Given the description of an element on the screen output the (x, y) to click on. 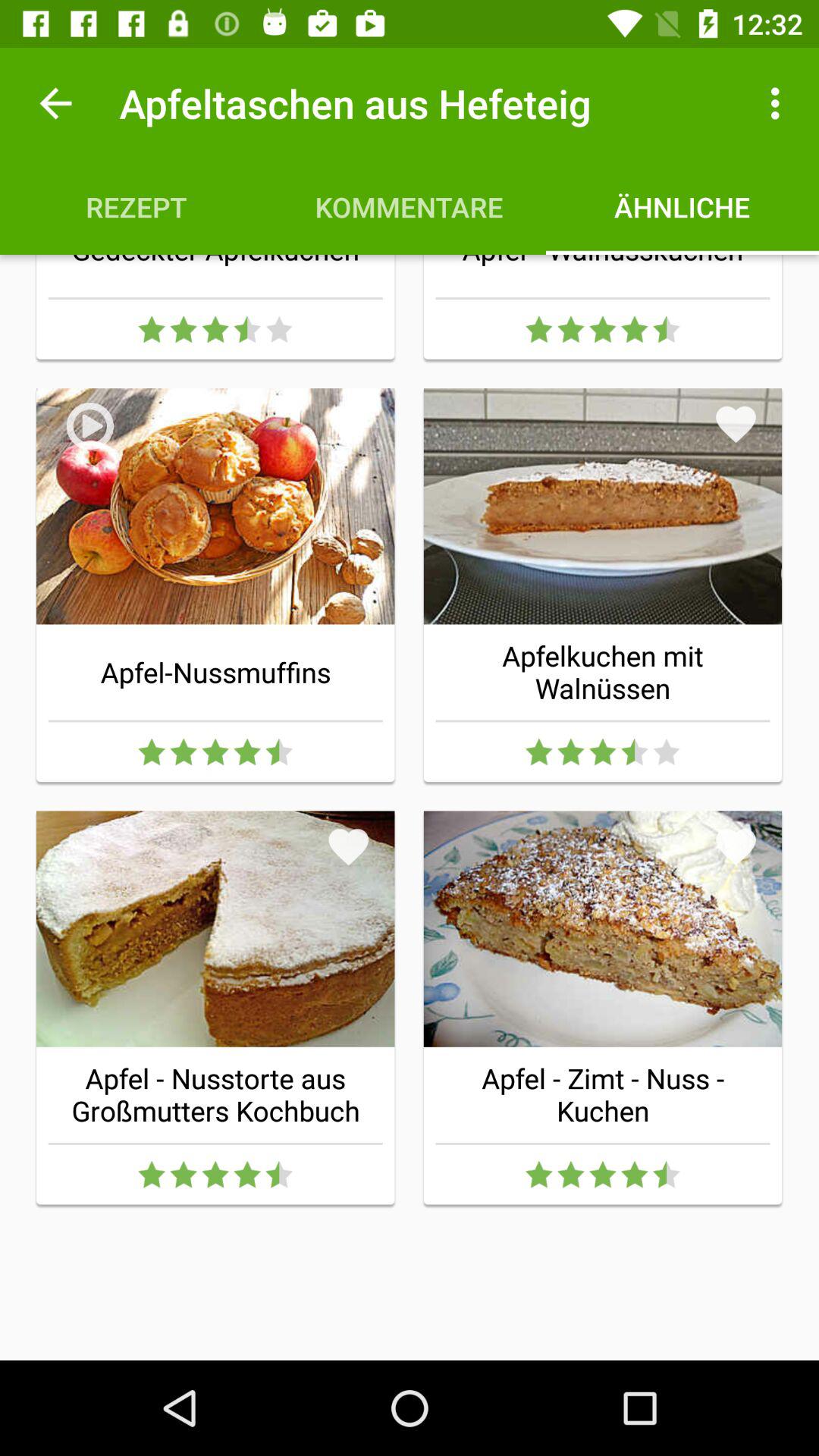
turn on icon above the apfel zimt nuss icon (735, 846)
